Given the description of an element on the screen output the (x, y) to click on. 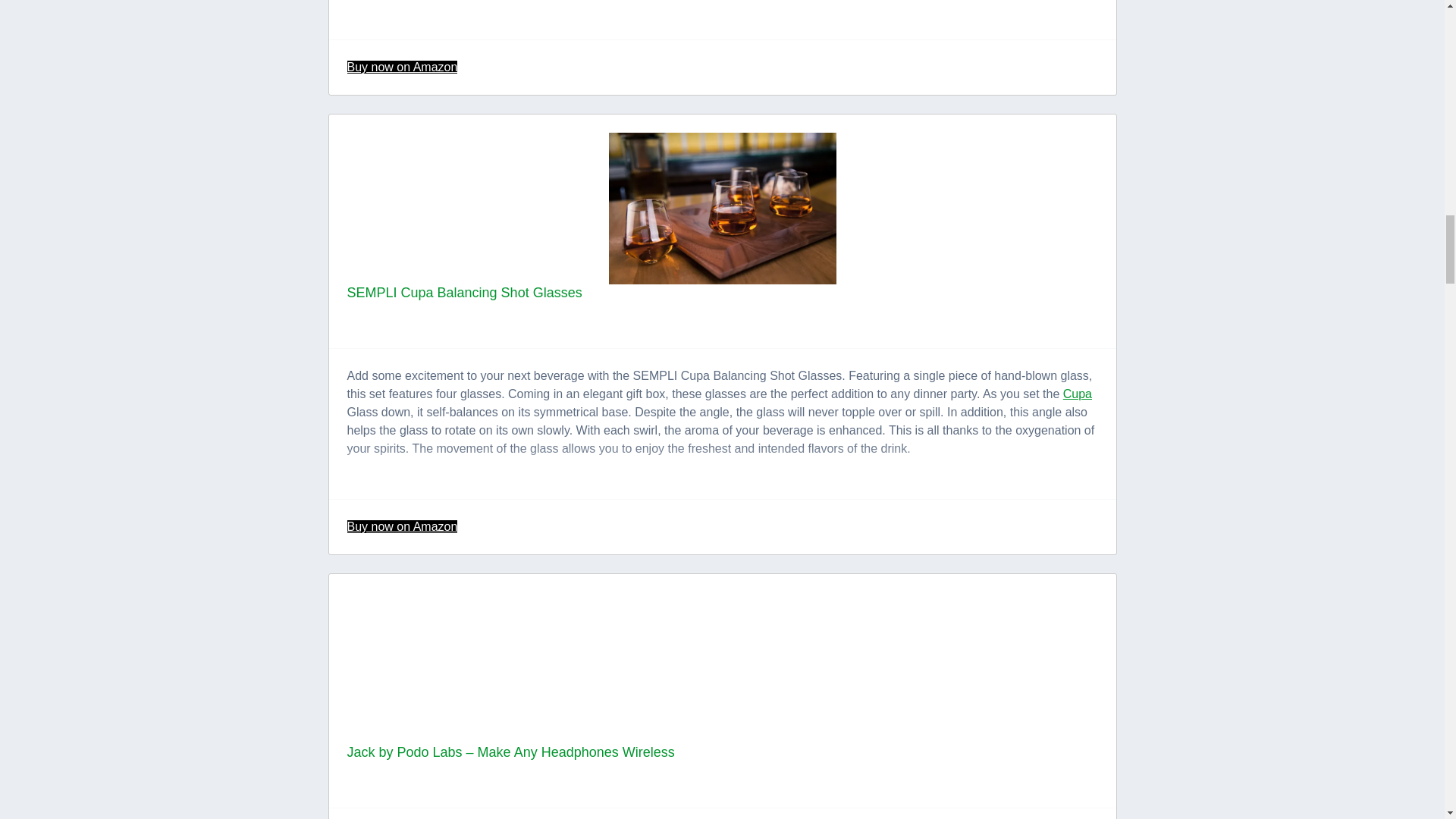
SEMPLI Cupa Balancing Shot Glasses (464, 292)
Buy now on Amazon (402, 66)
Buy now on Amazon (402, 526)
Cupa (1077, 393)
